Given the description of an element on the screen output the (x, y) to click on. 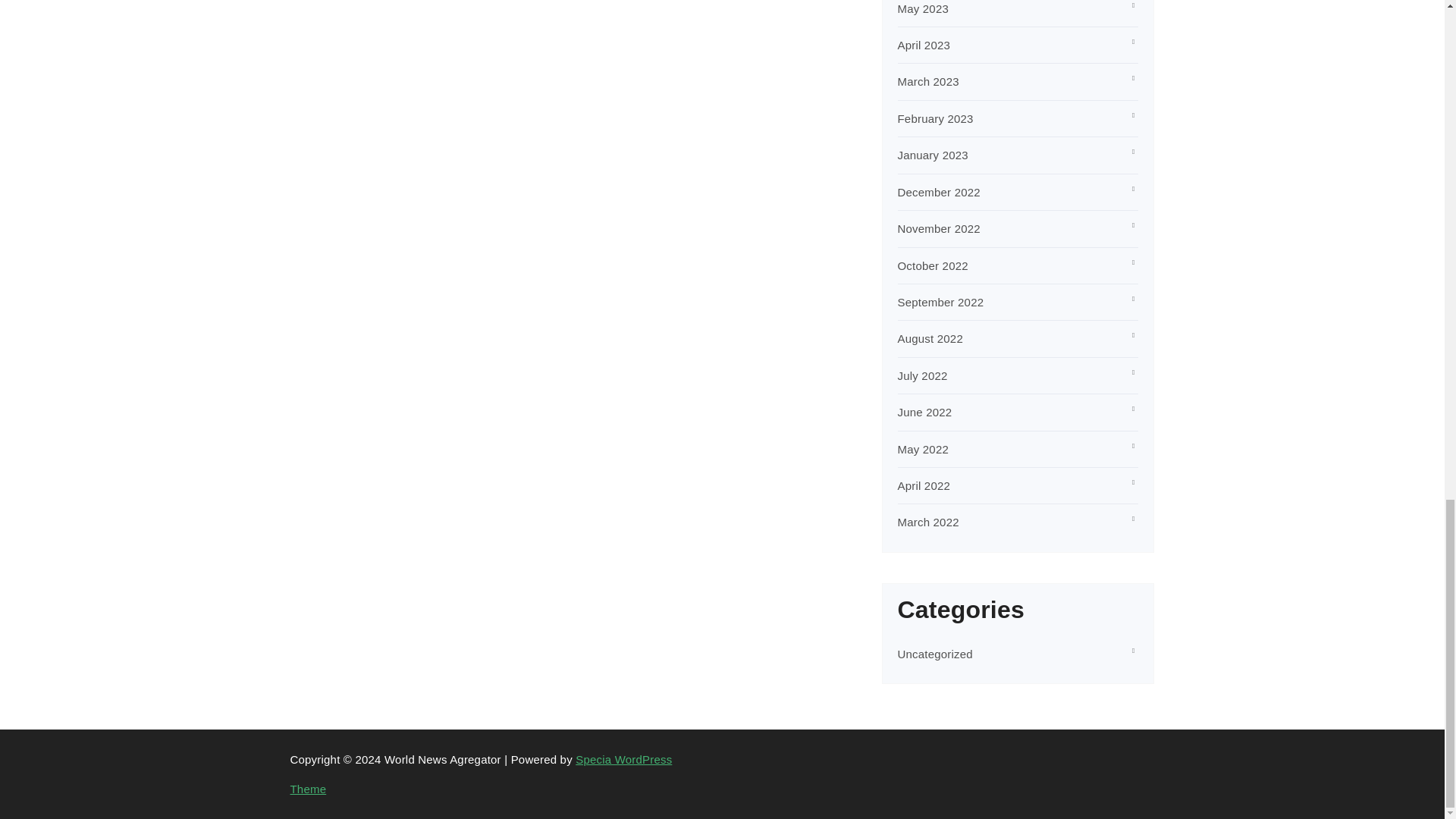
February 2023 (936, 118)
December 2022 (938, 192)
November 2022 (938, 228)
May 2023 (923, 8)
January 2023 (933, 154)
April 2023 (924, 44)
October 2022 (933, 265)
March 2023 (928, 81)
